Given the description of an element on the screen output the (x, y) to click on. 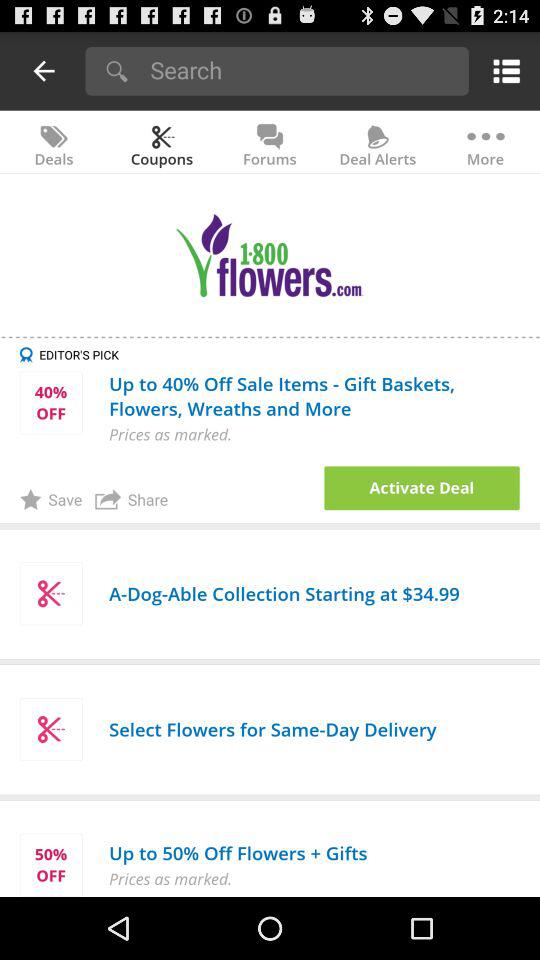
choose app next to the share (50, 499)
